Given the description of an element on the screen output the (x, y) to click on. 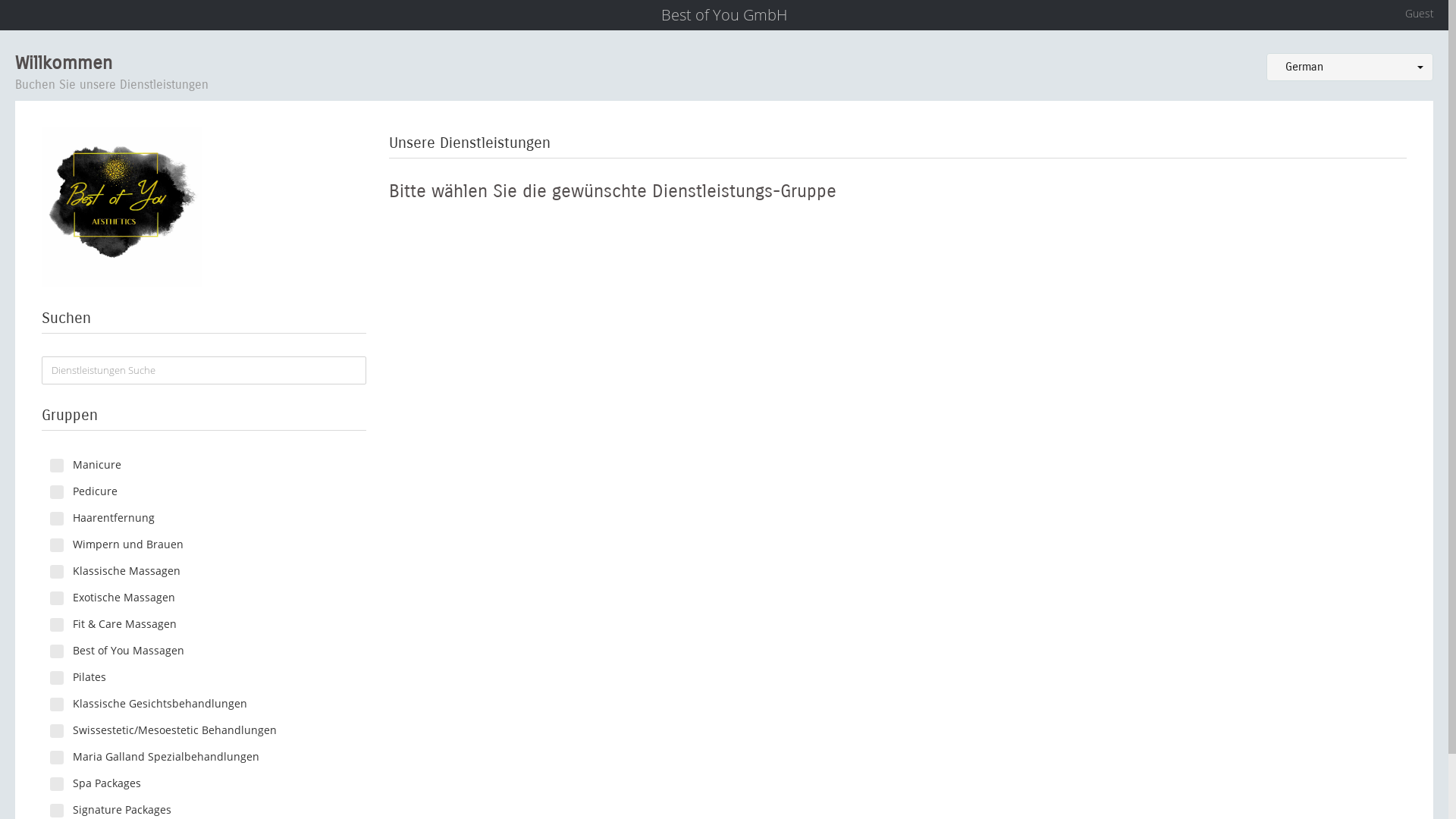
German
  Element type: text (1349, 67)
9 Element type: text (55, 597)
15 Element type: text (55, 730)
Pedicure Element type: text (203, 490)
3 Element type: text (55, 465)
Spa Packages Element type: text (203, 782)
17 Element type: text (55, 783)
Signature Packages Element type: text (203, 809)
5 Element type: text (55, 518)
12 Element type: text (55, 651)
16 Element type: text (55, 757)
Swissestetic/Mesoestetic Behandlungen Element type: text (203, 729)
8 Element type: text (55, 571)
Maria Galland Spezialbehandlungen Element type: text (203, 756)
Klassische Gesichtsbehandlungen Element type: text (203, 703)
Manicure Element type: text (203, 464)
10 Element type: text (55, 624)
Wimpern und Brauen Element type: text (203, 544)
14 Element type: text (55, 704)
Pilates Element type: text (203, 676)
Fit & Care Massagen Element type: text (203, 623)
Best of You Massagen Element type: text (203, 650)
Exotische Massagen Element type: text (203, 597)
4 Element type: text (55, 491)
6 Element type: text (55, 544)
13 Element type: text (55, 677)
Klassische Massagen Element type: text (203, 570)
Haarentfernung Element type: text (203, 517)
Office Test Element type: hover (121, 207)
Guest Element type: text (1415, 15)
